Given the description of an element on the screen output the (x, y) to click on. 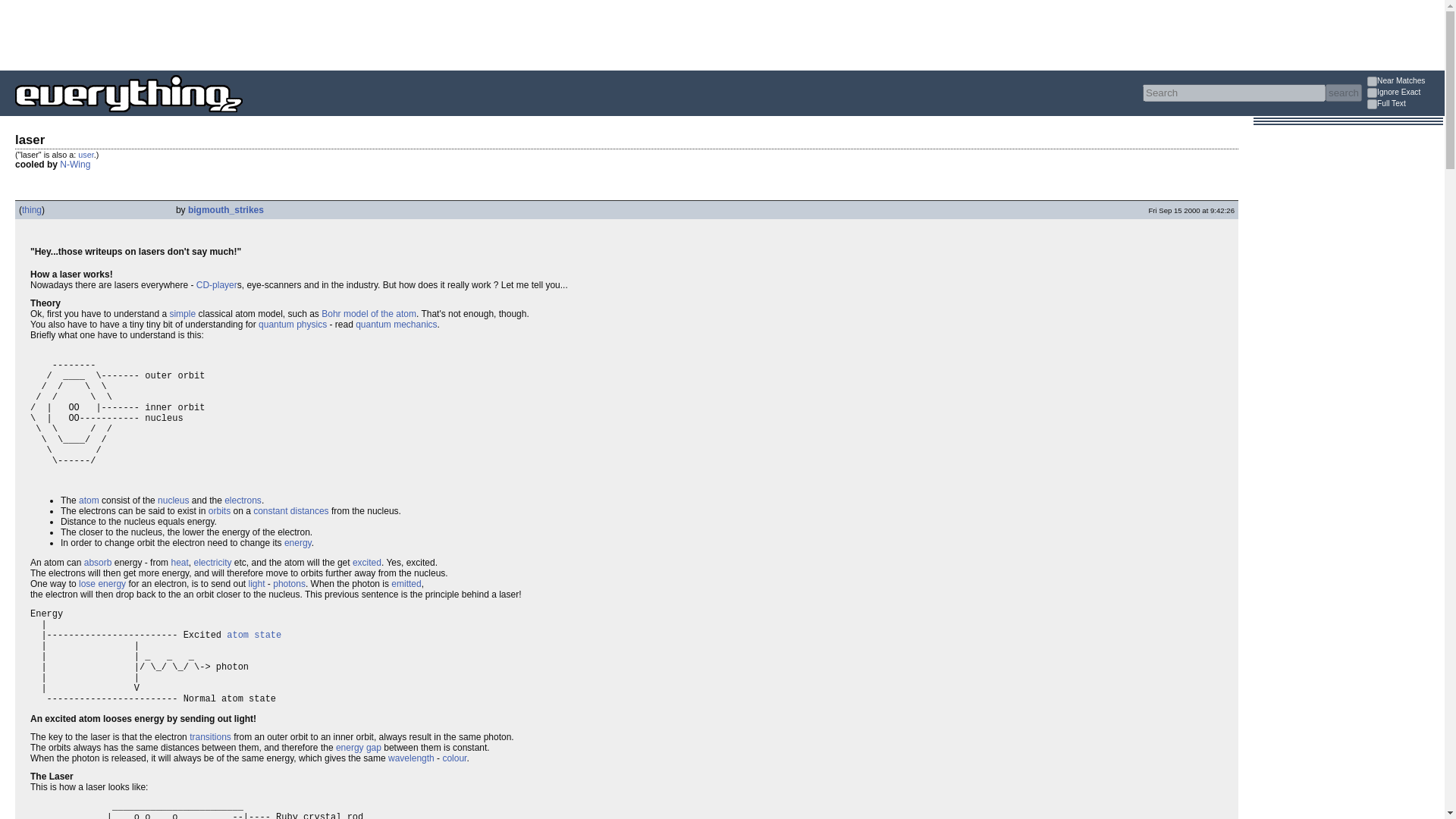
search (1342, 92)
quantum physics (292, 324)
atom (88, 500)
N-Wing (74, 163)
Everything (242, 117)
atom (88, 500)
excited (366, 562)
constant distances (291, 511)
Search within Everything2 (1342, 92)
CD-player (216, 285)
